Given the description of an element on the screen output the (x, y) to click on. 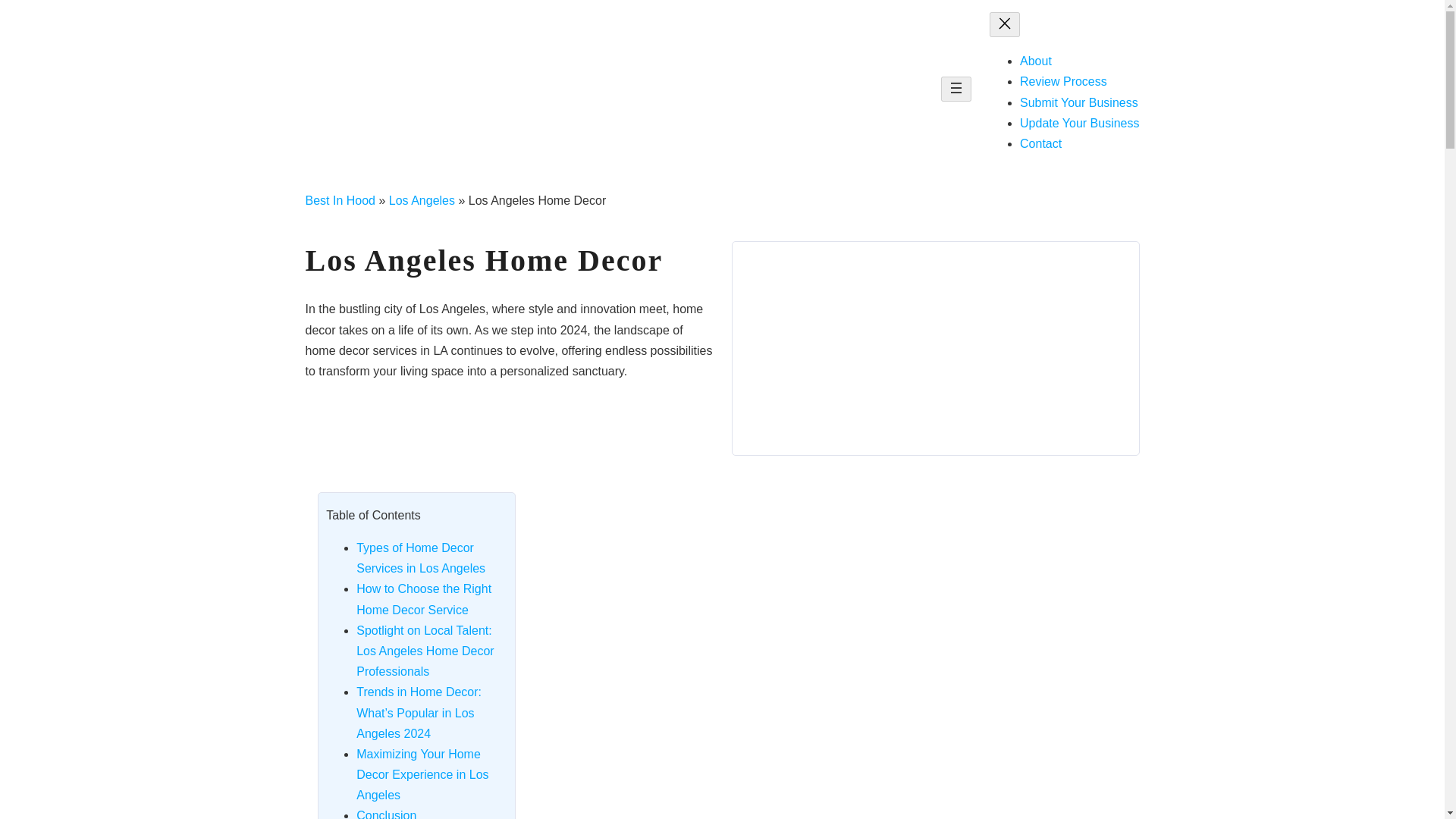
How to Choose the Right Home Decor Service (424, 598)
Update Your Business (1079, 123)
Los Angeles (421, 200)
Maximizing Your Home Decor Experience in Los Angeles (421, 774)
Best In Hood (339, 200)
Maximizing Your Home Decor Experience in Los Angeles (421, 774)
How to Choose the Right Home Decor Service (424, 598)
About (1035, 60)
Submit Your Business (1079, 102)
Contact (1040, 143)
Review Process (1063, 81)
Conclusion (386, 814)
Conclusion (386, 814)
